Given the description of an element on the screen output the (x, y) to click on. 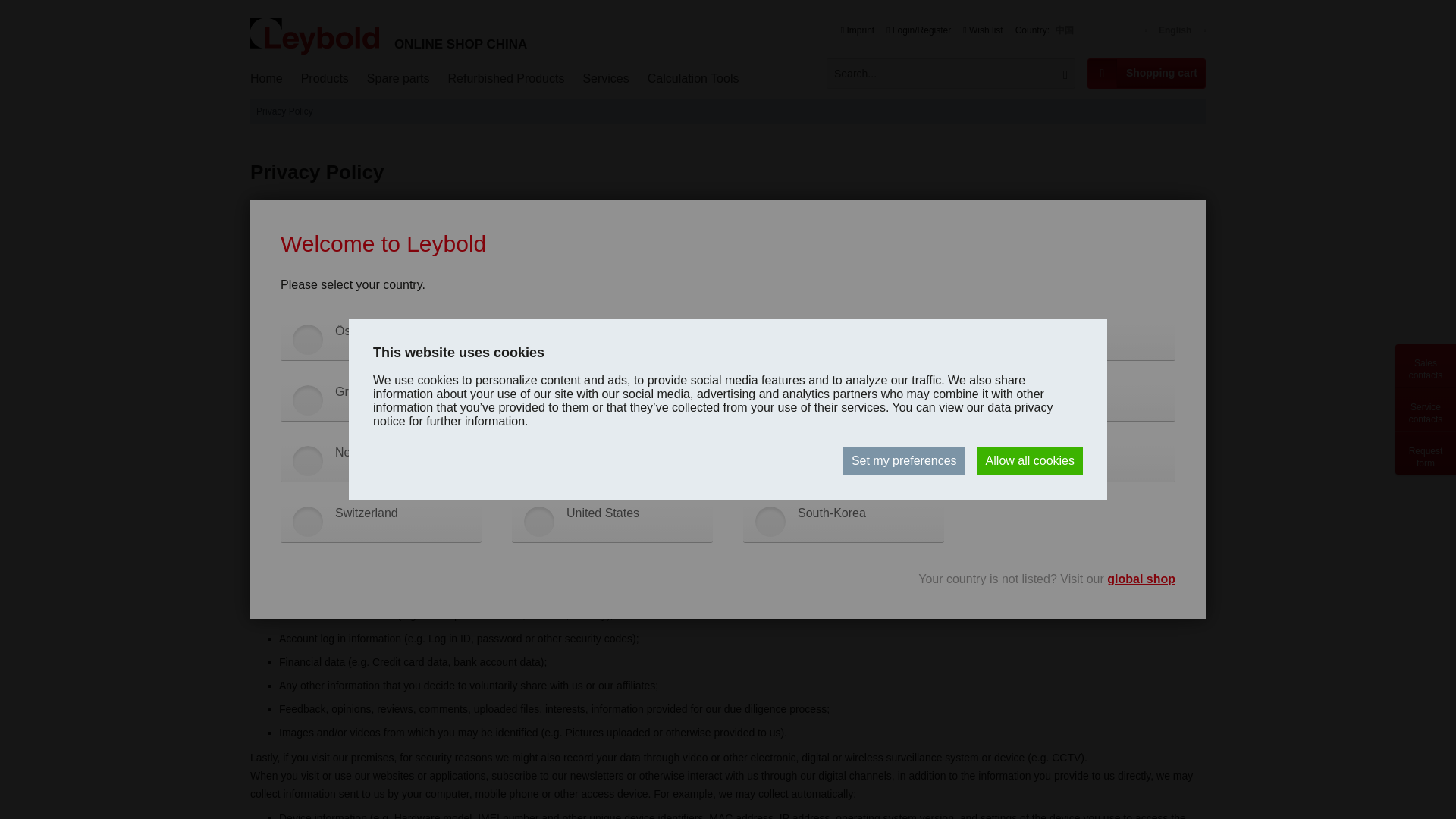
Allow all cookies (1029, 460)
Services (605, 78)
Calculation Tools (693, 78)
Spare parts (398, 78)
Home (266, 78)
Products (325, 78)
Set my preferences (904, 460)
Refurbished Products (506, 78)
